Given the description of an element on the screen output the (x, y) to click on. 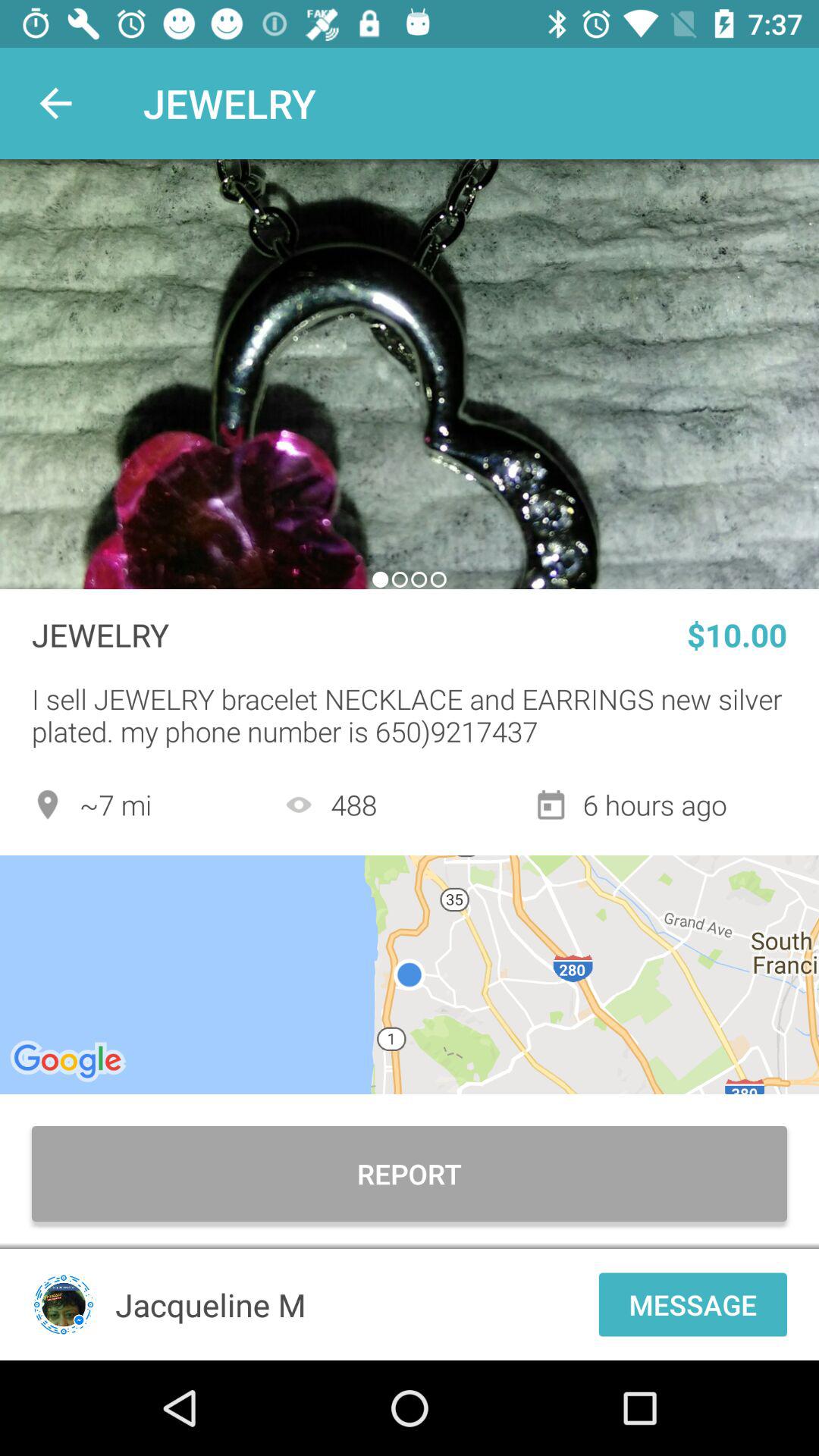
turn off the item above the jewelry (409, 374)
